Given the description of an element on the screen output the (x, y) to click on. 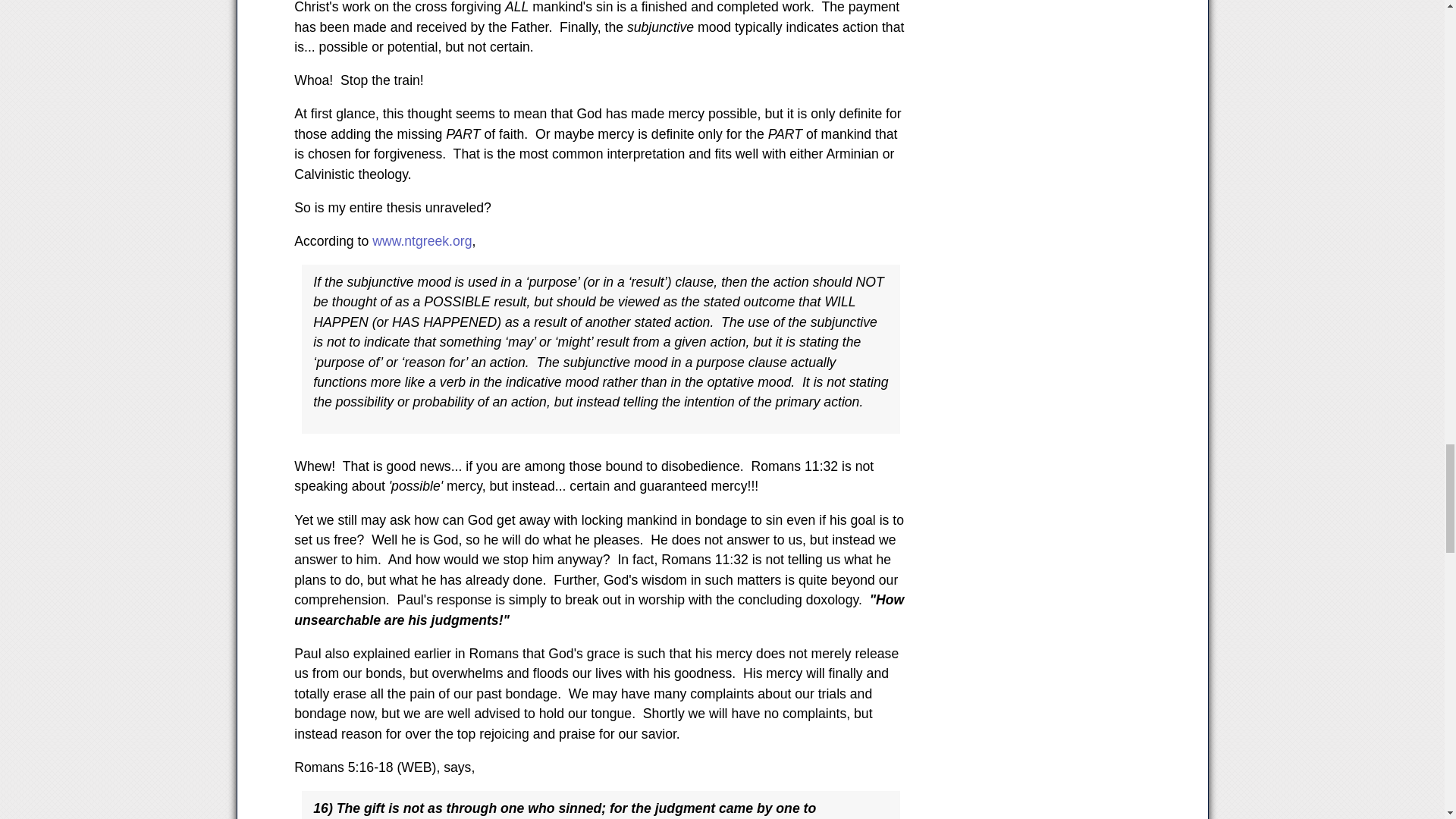
www.ntgreek.org (421, 240)
